Given the description of an element on the screen output the (x, y) to click on. 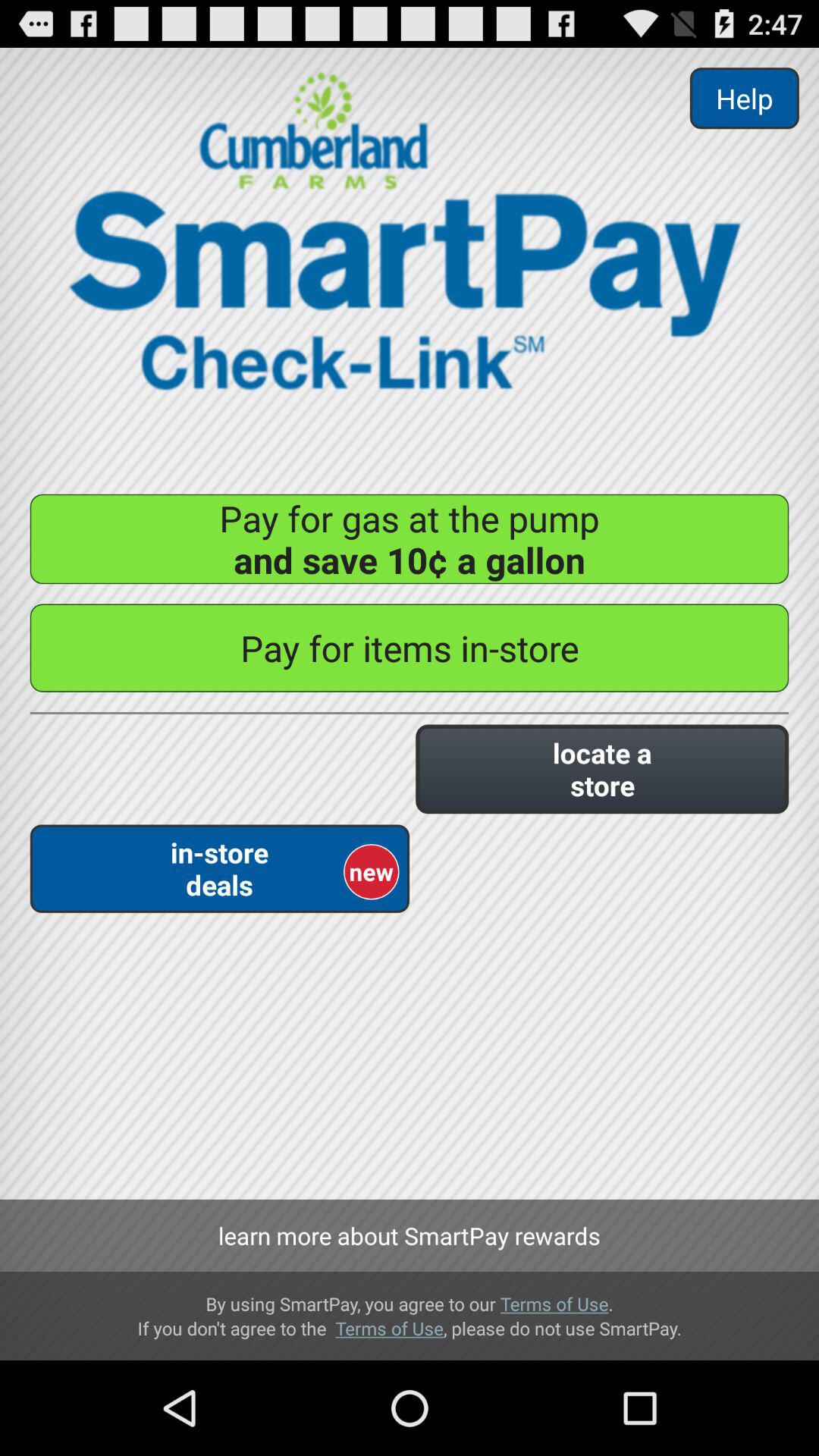
select button above the pay for gas item (744, 98)
